Given the description of an element on the screen output the (x, y) to click on. 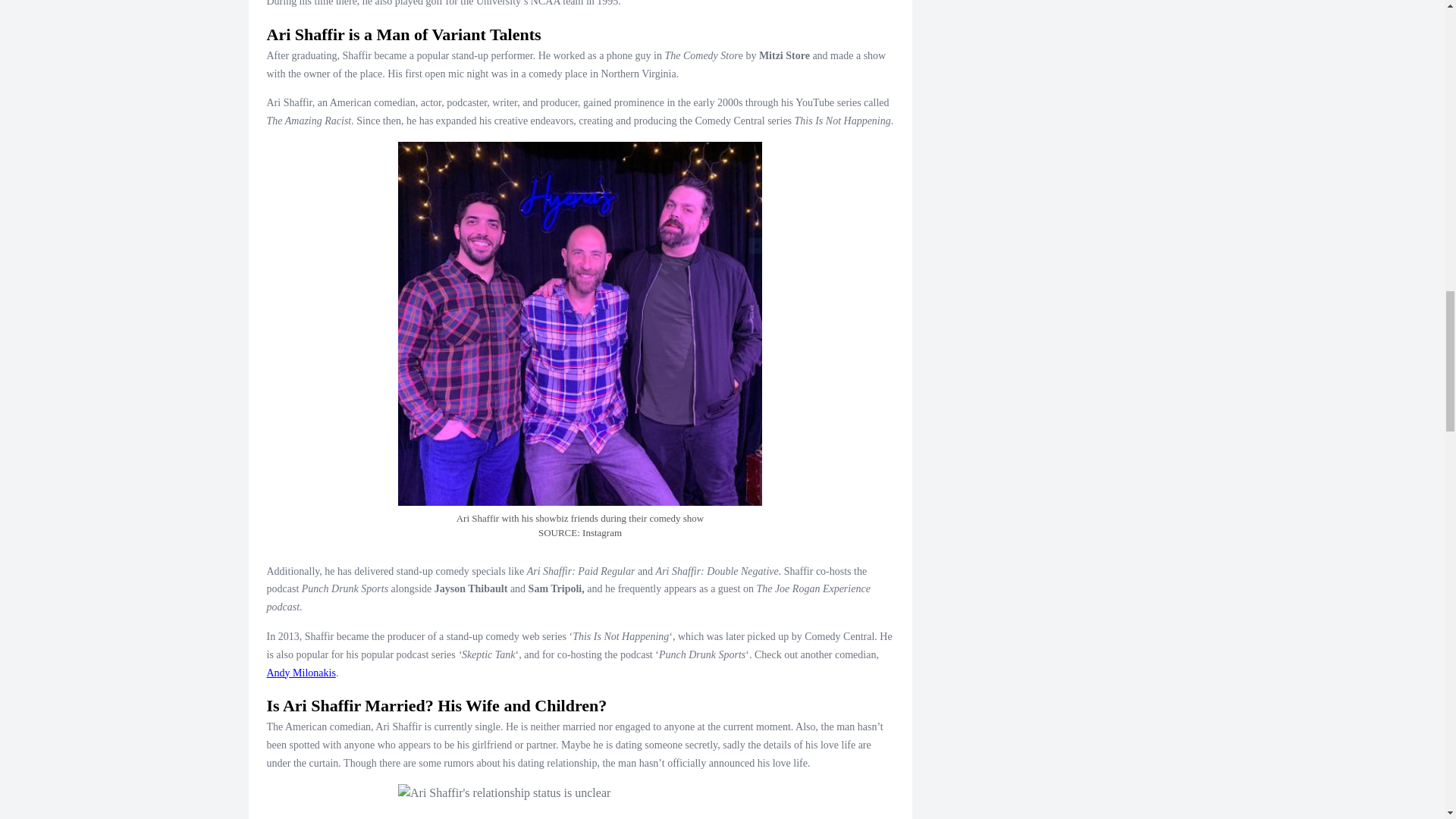
Andy Milonakis (301, 672)
